Given the description of an element on the screen output the (x, y) to click on. 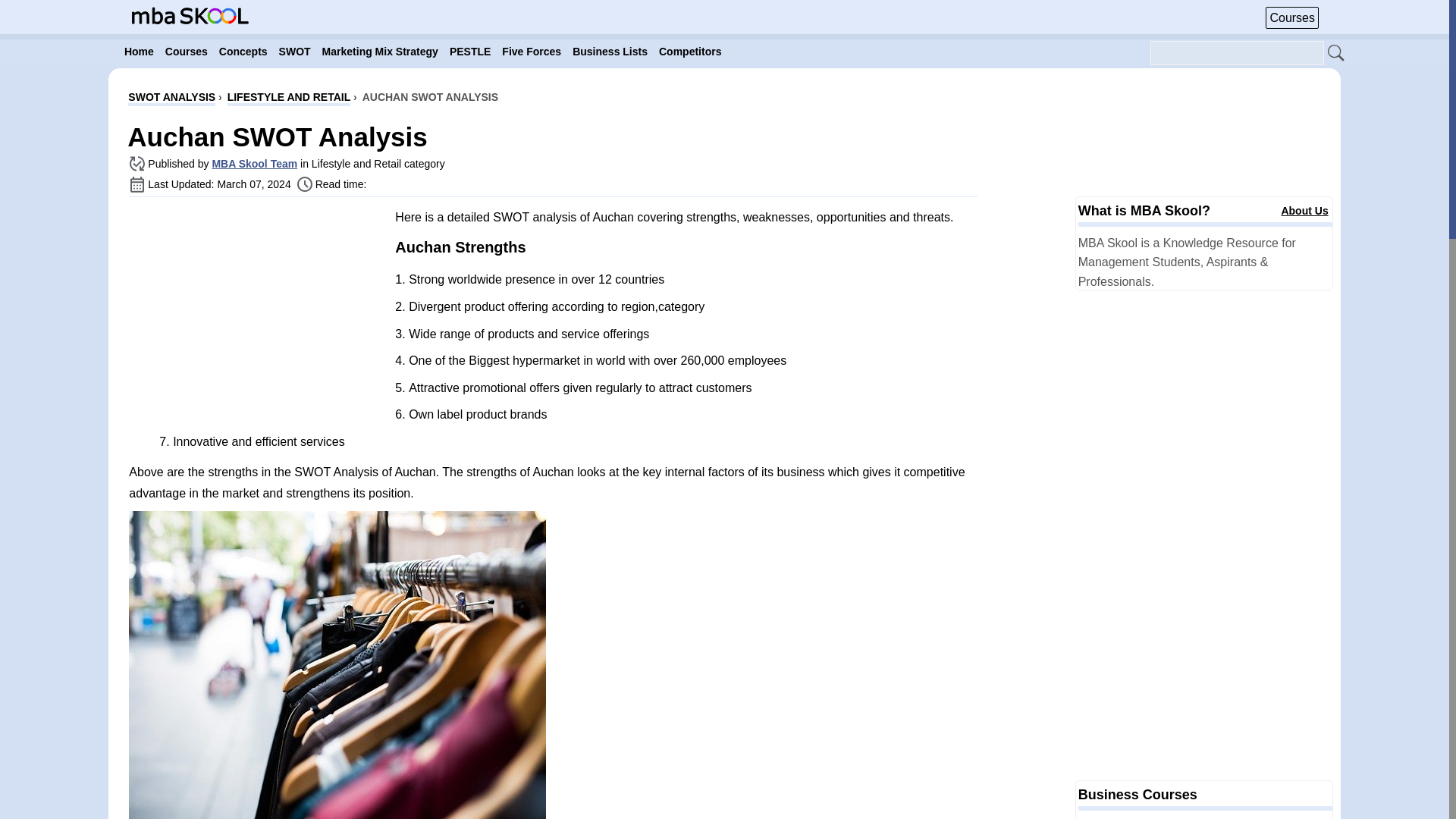
LIFESTYLE AND RETAIL (288, 98)
About Us (1304, 210)
MBA Skool (189, 19)
Competitors (689, 52)
SWOT ANALYSIS (171, 98)
Home (138, 52)
Business Lists (609, 52)
Concepts (242, 52)
PESTLE (469, 52)
Courses (1292, 17)
Marketing Mix Strategy (379, 52)
Five Forces (531, 52)
MBA Skool (189, 15)
SWOT (295, 52)
Search (1336, 54)
